Given the description of an element on the screen output the (x, y) to click on. 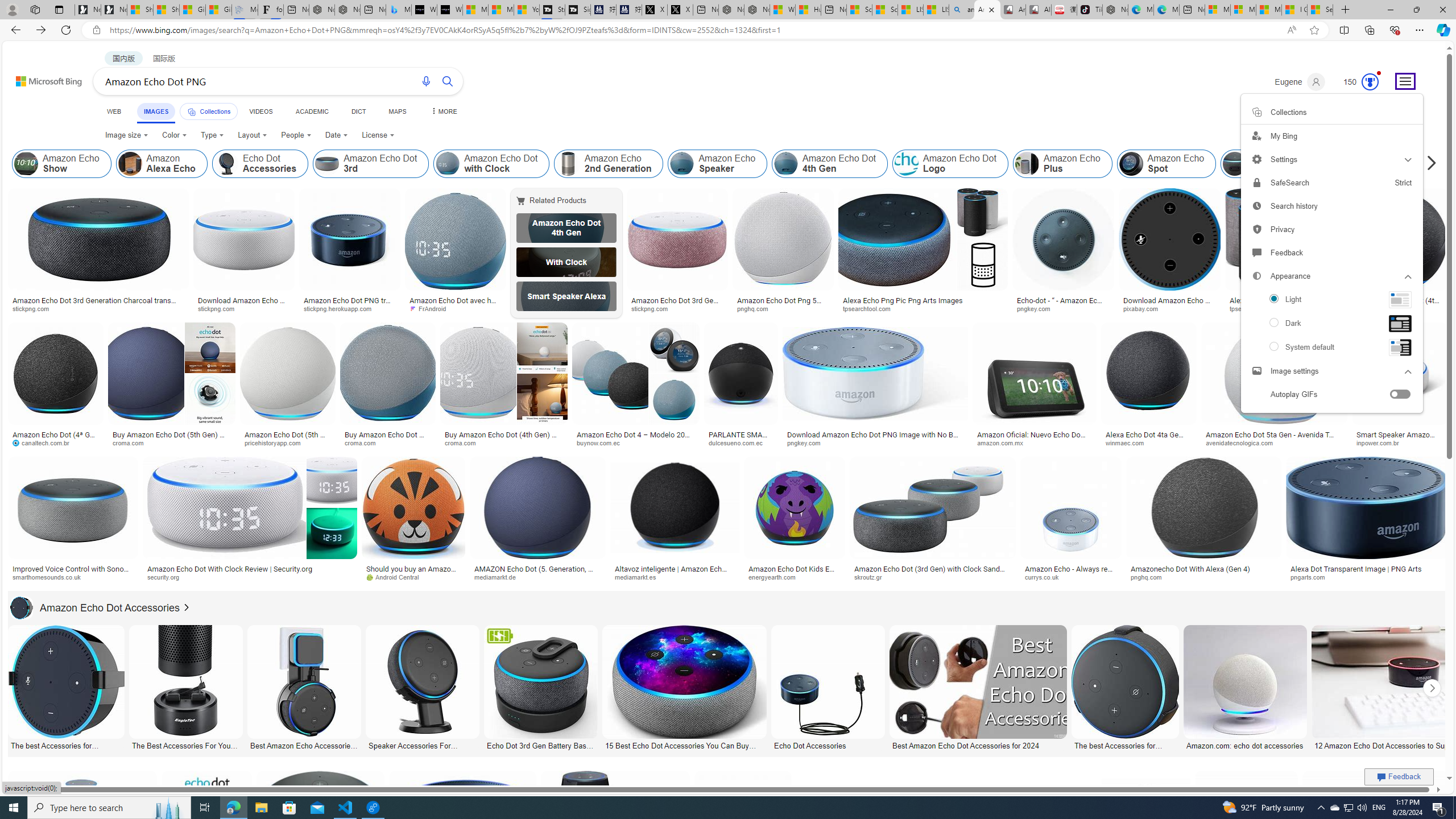
Best Amazon Echo Accessories - Tech Advisor (304, 744)
FrAndroid (431, 308)
Alexa Echo Png Pic Png Arts Images (923, 299)
License (377, 135)
Alexa Echo Png Pic Png Arts Images (1282, 303)
Amazonecho Dot With Alexa (Gen 4)pnghq.comSave (1205, 521)
inpower.com.br (1381, 442)
Scroll right (1428, 163)
